Given the description of an element on the screen output the (x, y) to click on. 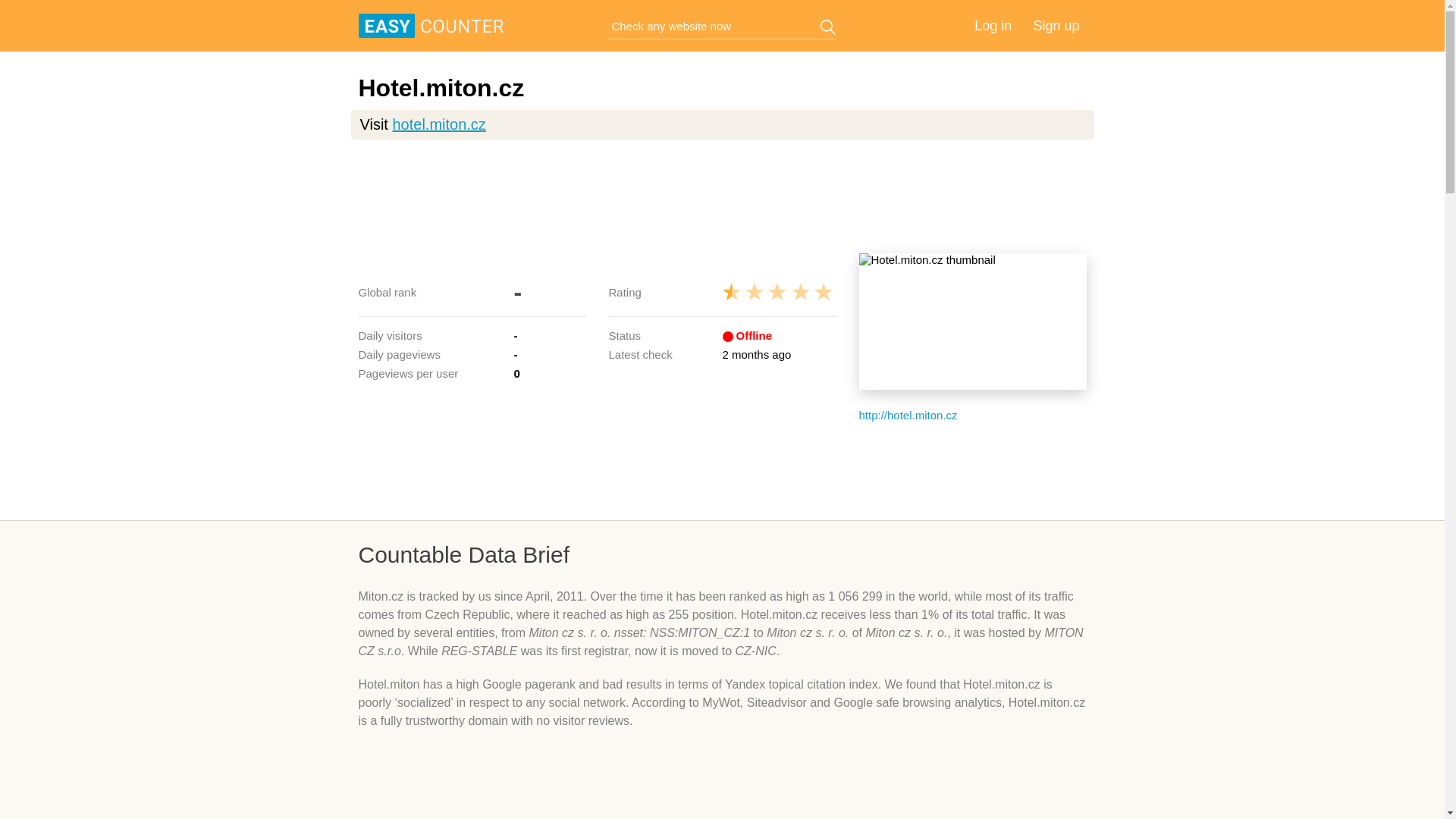
Advertisement (722, 470)
hotel.miton.cz (437, 124)
Log in (992, 25)
Sign up (1056, 25)
Hotel.miton.cz thumbnail (972, 321)
Advertisement (722, 196)
Advertisement (722, 785)
